Given the description of an element on the screen output the (x, y) to click on. 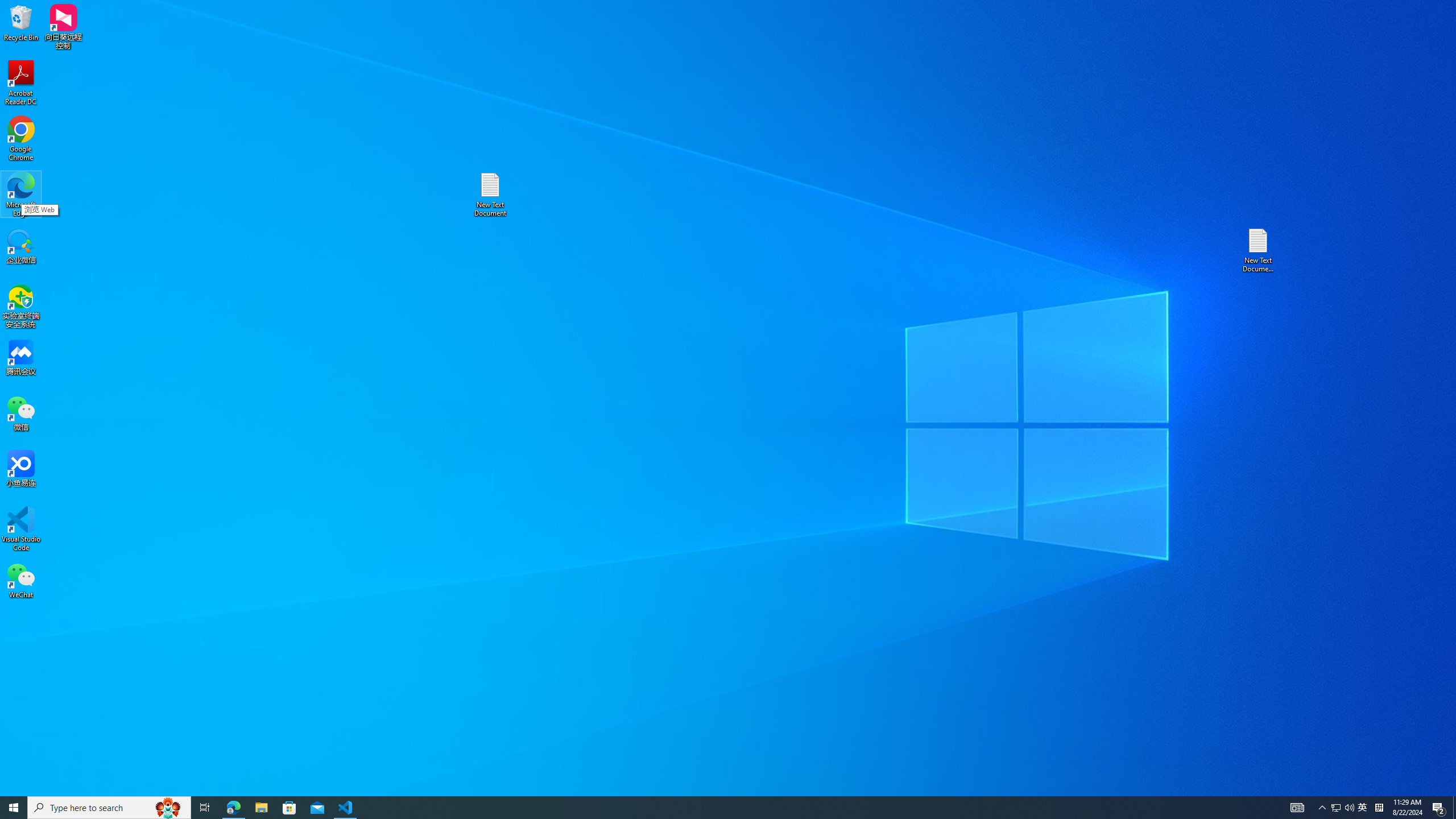
Visual Studio Code (21, 528)
Google Chrome (1362, 807)
Running applications (21, 138)
